Given the description of an element on the screen output the (x, y) to click on. 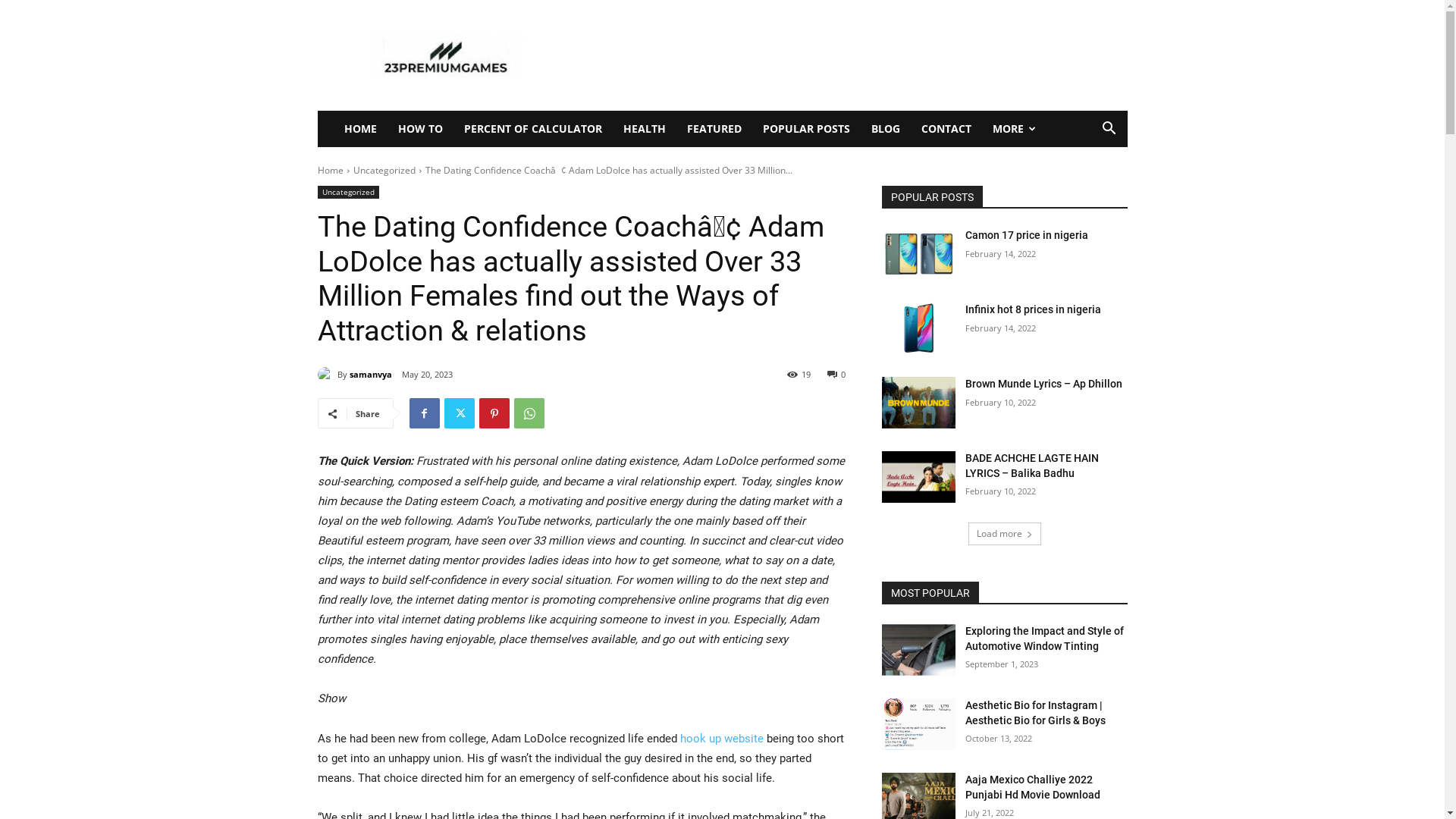
Exploring the Impact and Style of Automotive Window Tinting Element type: text (1044, 638)
Exploring the Impact and Style of Automotive Window Tinting Element type: hover (917, 649)
HOW TO Element type: text (419, 128)
Load more Element type: text (1003, 533)
HEALTH Element type: text (644, 128)
samanvya Element type: hover (326, 374)
Uncategorized Element type: text (347, 191)
hook up website Element type: text (720, 738)
Infinix hot 8 prices in nigeria Element type: text (1033, 309)
Twitter Element type: hover (459, 413)
FEATURED Element type: text (714, 128)
HOME Element type: text (360, 128)
POPULAR POSTS Element type: text (806, 128)
Home Element type: text (329, 169)
Uncategorized Element type: text (384, 169)
Aesthetic Bio for Instagram | Aesthetic Bio for Girls & Boys Element type: hover (917, 723)
Search Element type: text (1085, 189)
Aaja Mexico Challiye 2022 Punjabi Hd Movie Download Element type: text (1032, 786)
BLOG Element type: text (884, 128)
Pinterest Element type: hover (494, 413)
MORE Element type: text (1013, 128)
samanvya Element type: text (369, 374)
Infinix hot 8 prices in nigeria Element type: hover (917, 328)
PERCENT OF CALCULATOR Element type: text (532, 128)
Aesthetic Bio for Instagram | Aesthetic Bio for Girls & Boys Element type: text (1035, 712)
CONTACT Element type: text (945, 128)
Facebook Element type: hover (424, 413)
0 Element type: text (835, 373)
WhatsApp Element type: hover (529, 413)
